Given the description of an element on the screen output the (x, y) to click on. 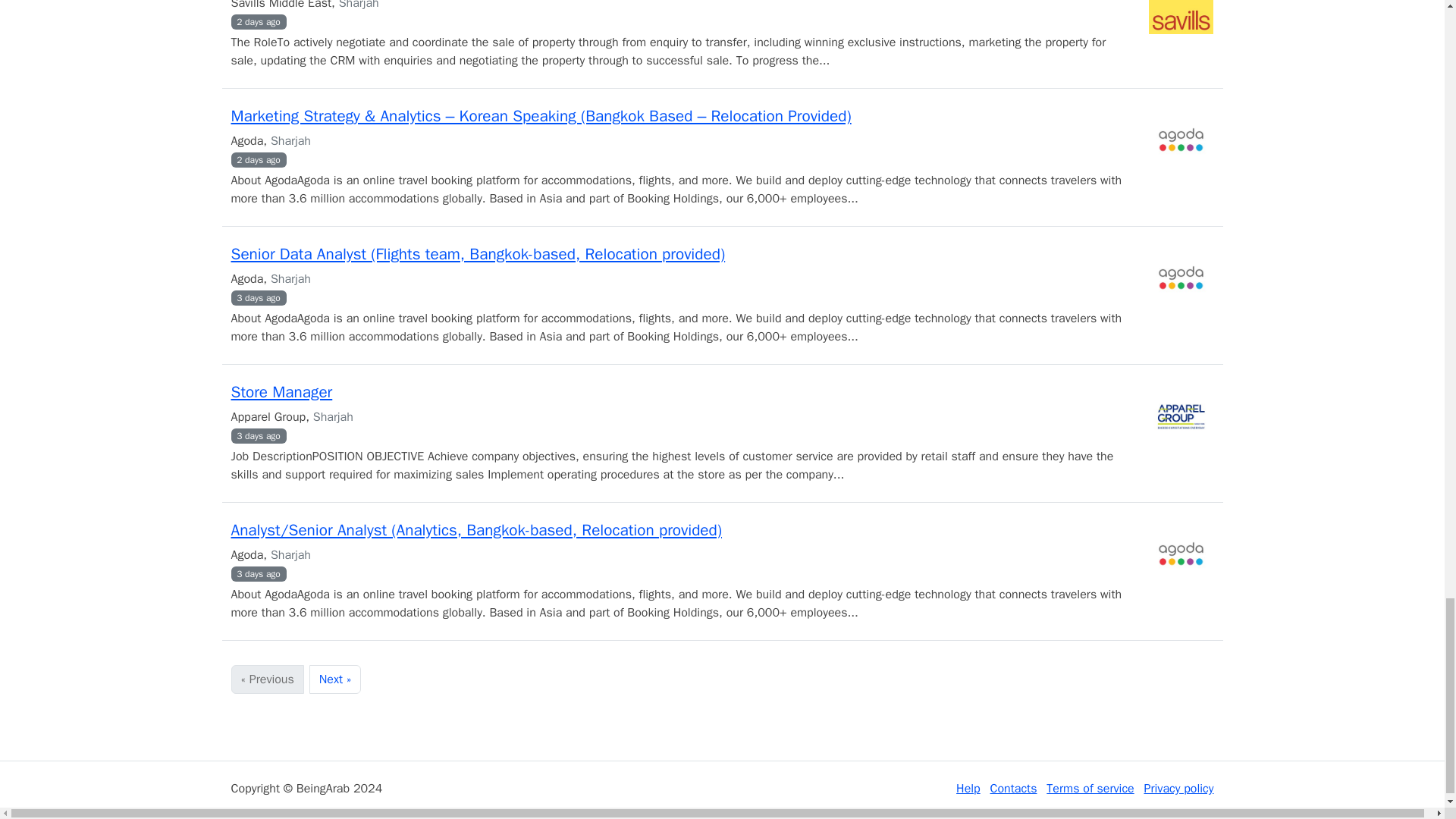
Help (967, 788)
Contacts (1013, 788)
Terms of service (1090, 788)
Privacy policy (1177, 788)
Store Manager (280, 392)
